Given the description of an element on the screen output the (x, y) to click on. 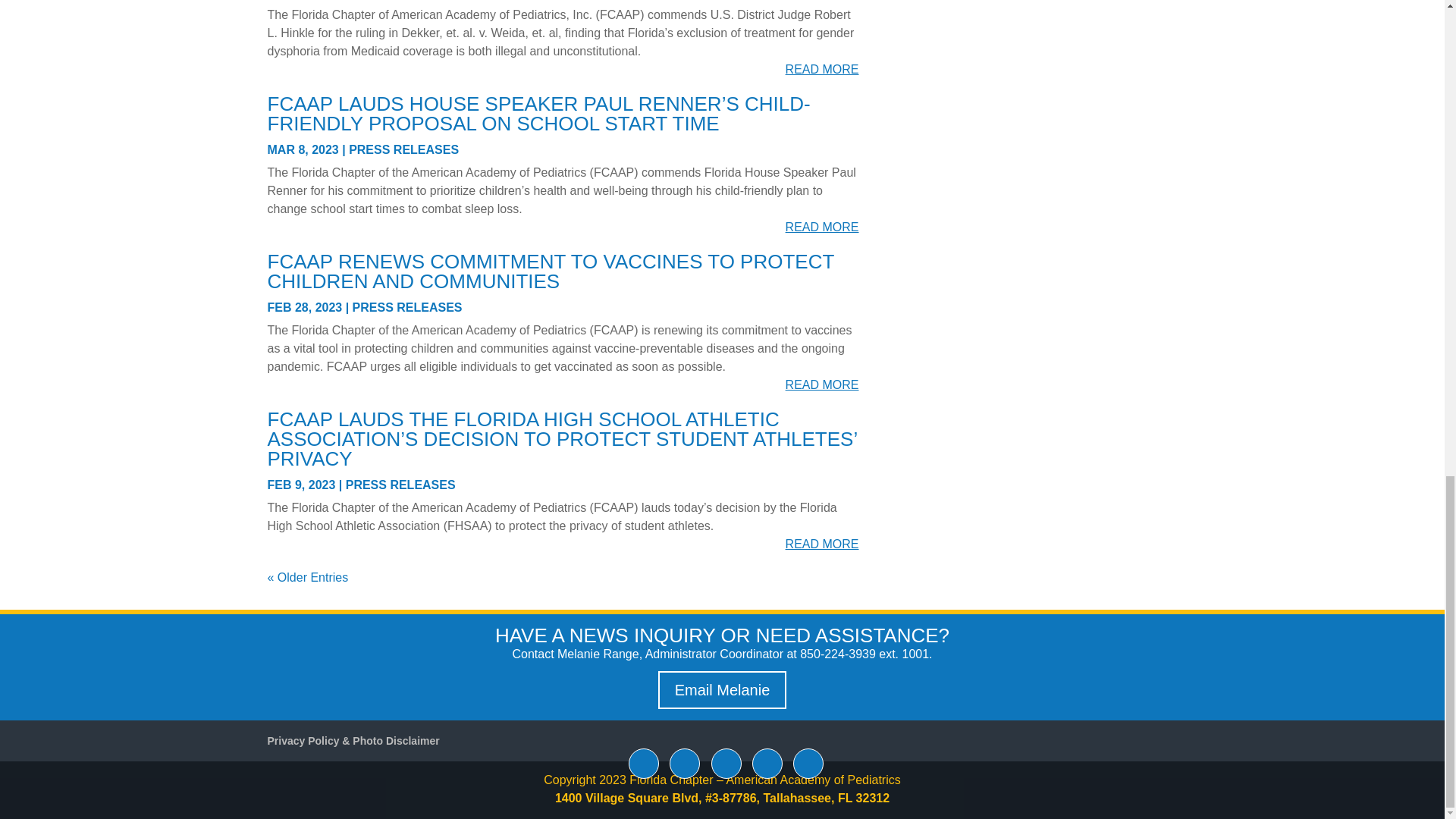
YouTube (767, 763)
LinkedIn (726, 763)
Facebook (643, 763)
Instagram (808, 763)
Twitter (684, 763)
